Given the description of an element on the screen output the (x, y) to click on. 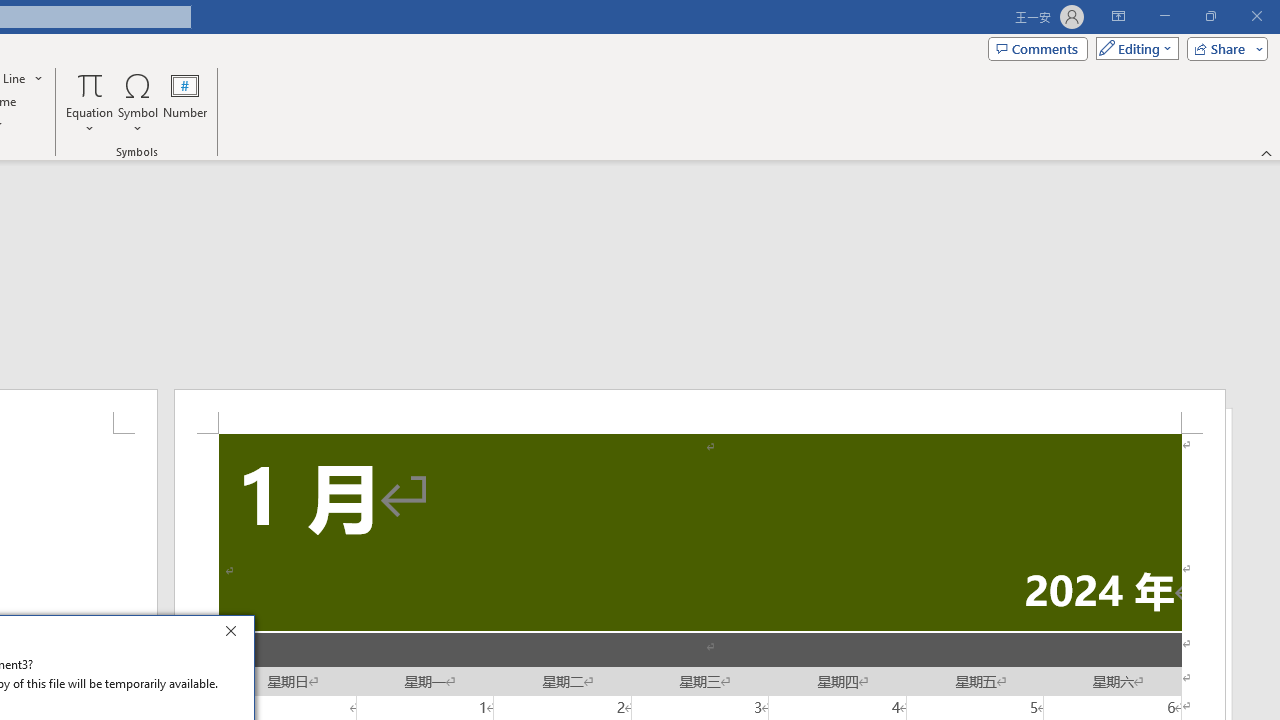
Symbol (138, 102)
